Given the description of an element on the screen output the (x, y) to click on. 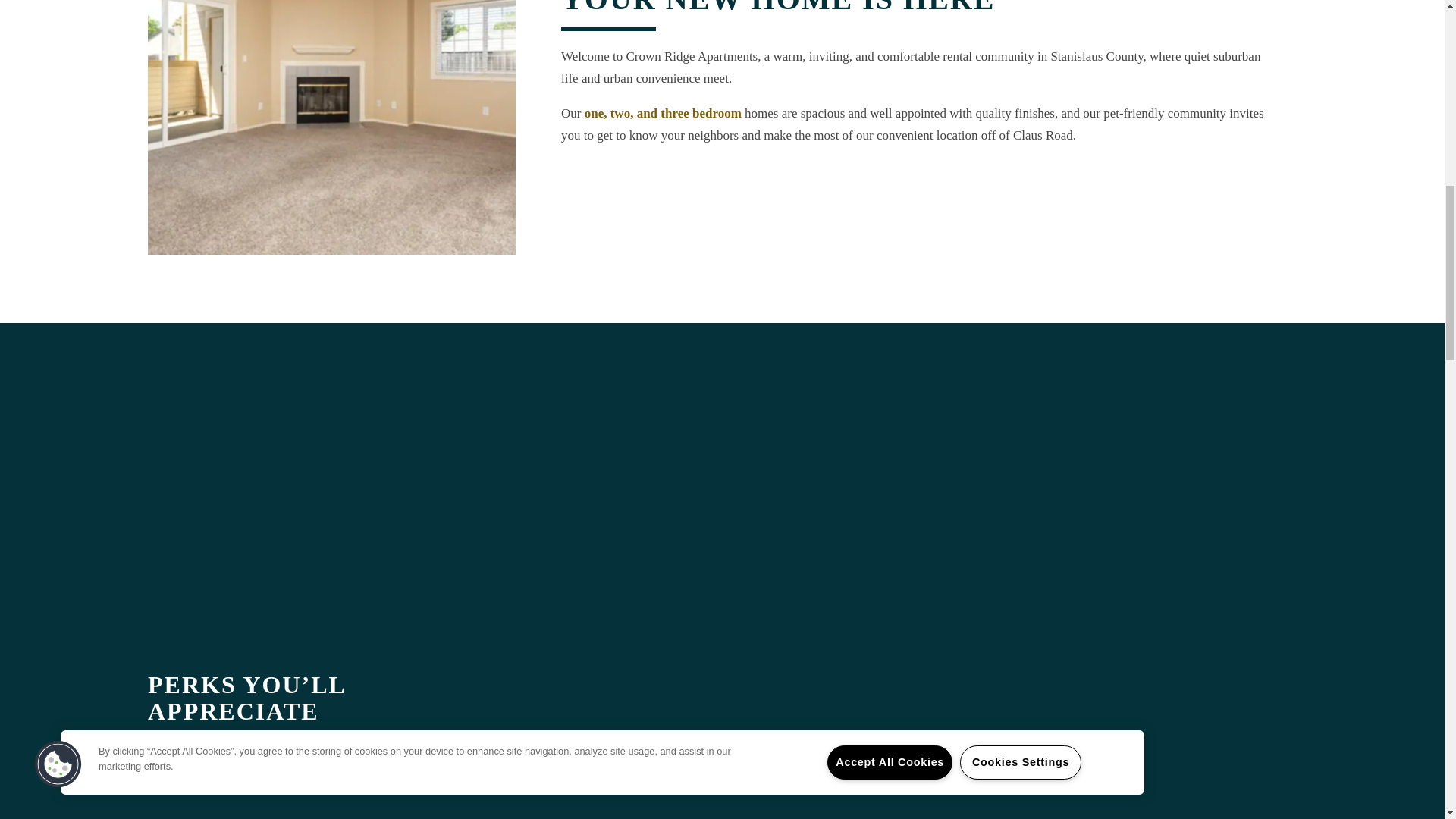
one, two, and three bedroom (663, 113)
